Given the description of an element on the screen output the (x, y) to click on. 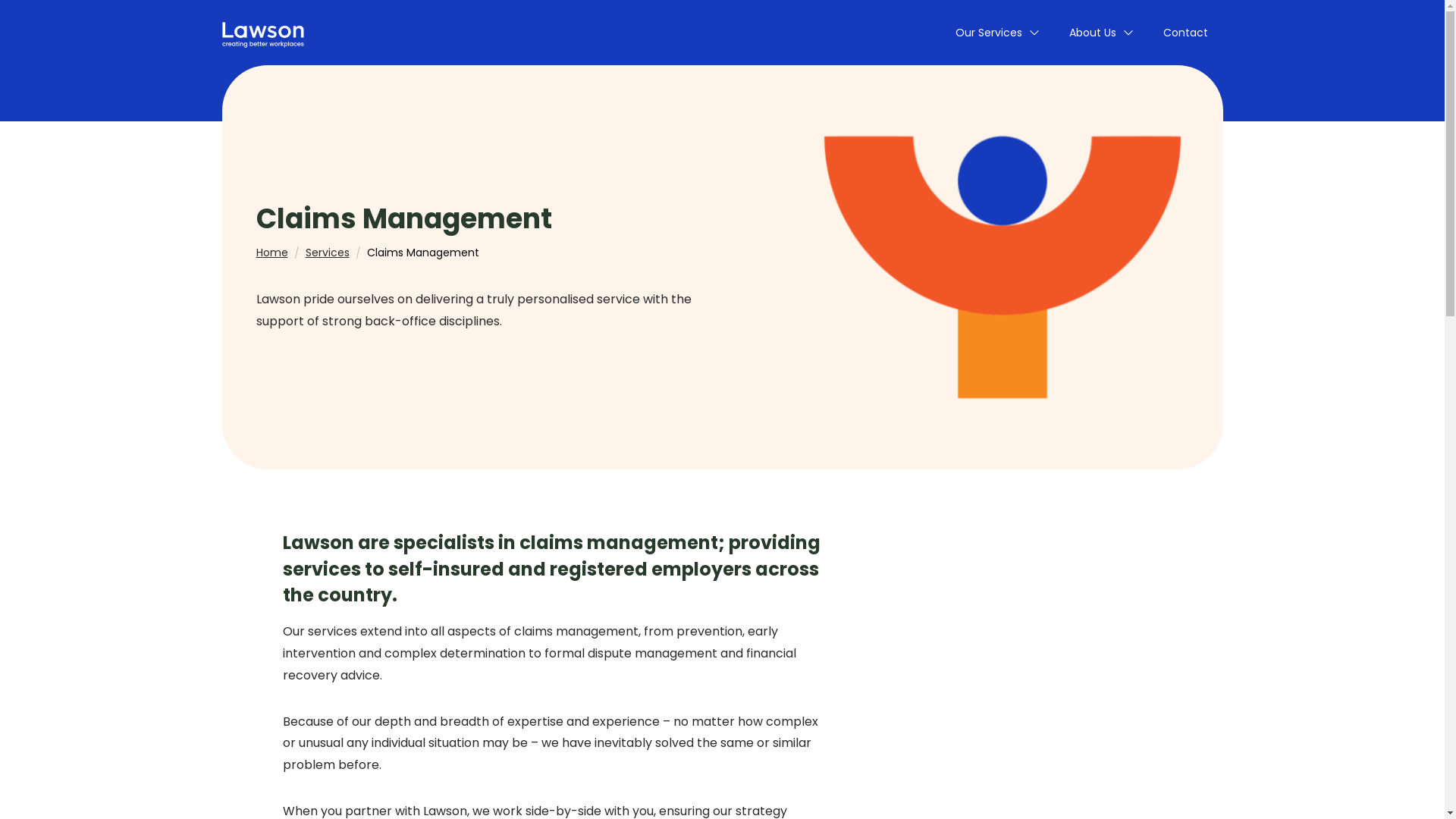
About Us Element type: text (1101, 32)
Contact Element type: text (1185, 32)
Home Element type: text (272, 252)
Services Element type: text (326, 252)
Claims Management Element type: text (423, 252)
Lawson Element type: text (262, 32)
Our Services Element type: text (997, 32)
